Given the description of an element on the screen output the (x, y) to click on. 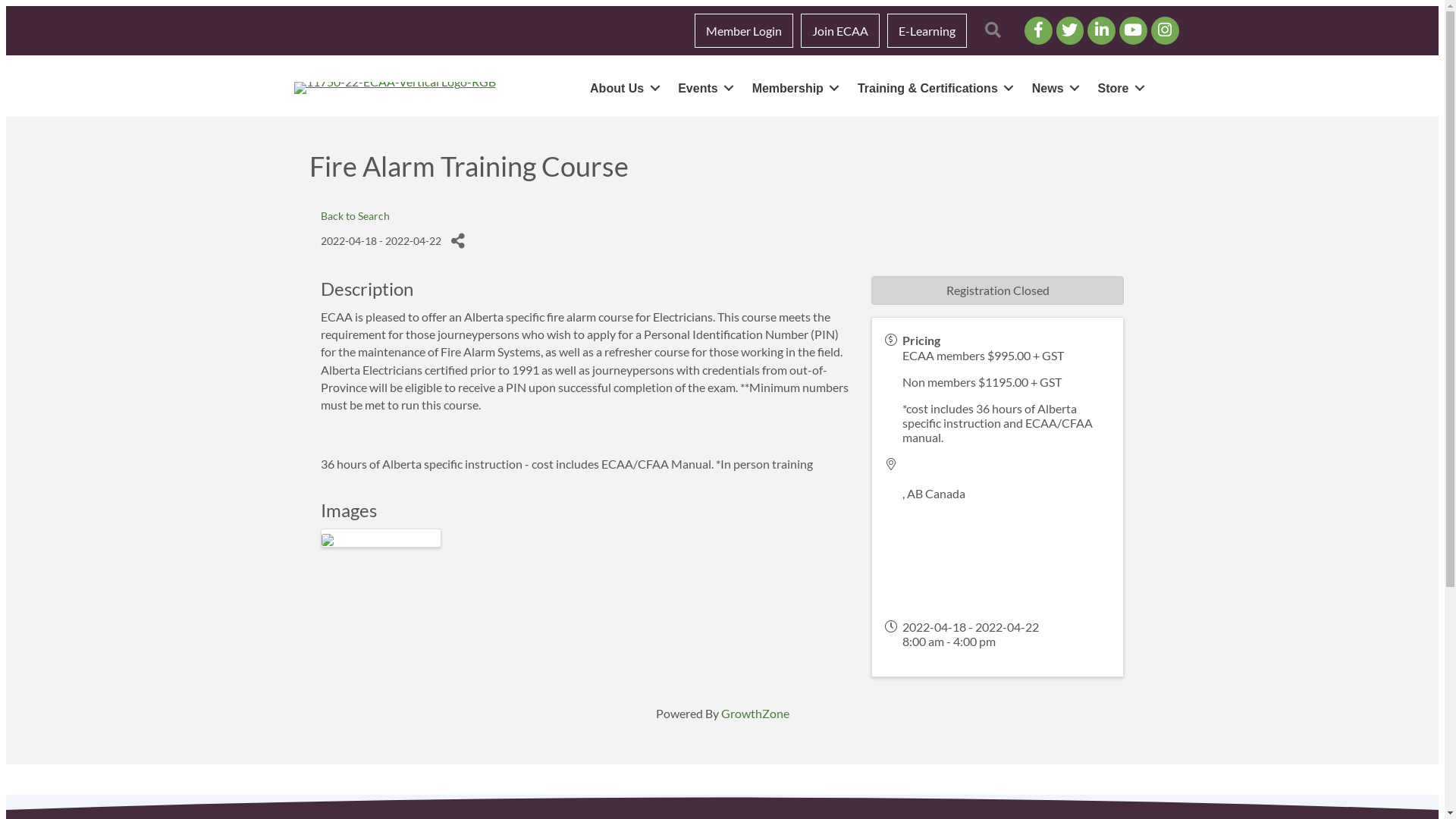
Training & Certifications Element type: text (932, 88)
Registration Closed Element type: text (997, 290)
Store Element type: text (1118, 88)
Membership Element type: text (792, 88)
Member Login Element type: text (743, 30)
E-Learning Element type: text (926, 30)
Events Element type: text (702, 88)
About Us Element type: text (621, 88)
News Element type: text (1052, 88)
GrowthZone Element type: text (754, 713)
Join ECAA Element type: text (839, 30)
Back to Search Element type: text (354, 215)
11750-22-ECAA-Vertical Logo-RGB Element type: hover (394, 87)
